Given the description of an element on the screen output the (x, y) to click on. 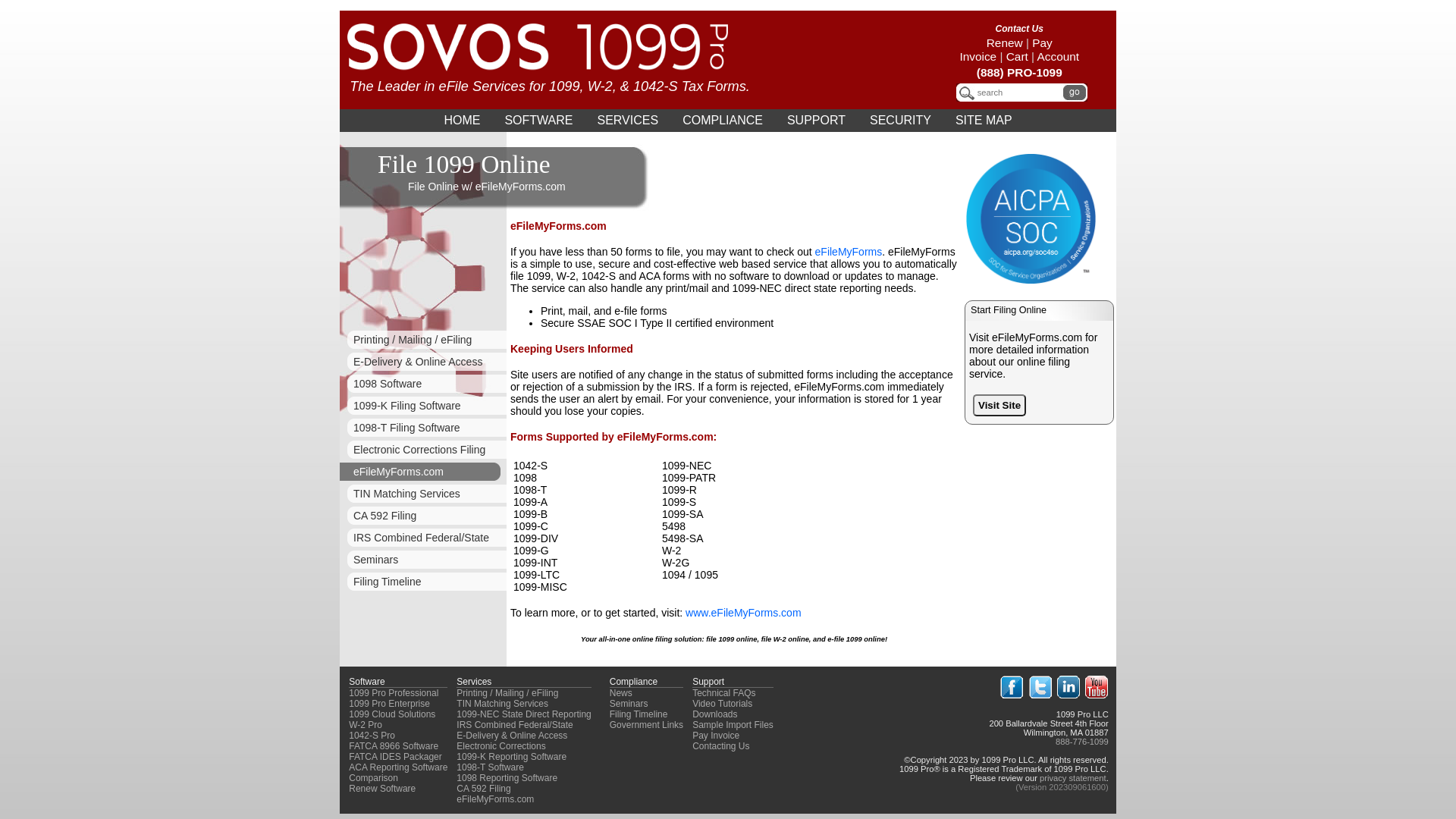
www.eFileMyForms.com Element type: text (742, 612)
Electronic Corrections Element type: text (500, 745)
Filing Timeline Element type: text (422, 581)
ACA Reporting Software Element type: text (397, 767)
Support Element type: text (708, 681)
1099 Pro Enterprise Element type: text (388, 703)
eFileMyForms.com Element type: text (494, 798)
IRS Combined Federal/State Element type: text (422, 537)
SITE MAP Element type: text (983, 120)
CA 592 Filing Element type: text (483, 788)
Printing / Mailing / eFiling Element type: text (507, 692)
Seminars Element type: text (628, 703)
E-Delivery & Online Access Element type: text (422, 361)
HOME Element type: text (461, 120)
1098 Reporting Software Element type: text (506, 777)
Technical FAQs Element type: text (723, 692)
(888) PRO-1099 Element type: text (1019, 71)
Cart Element type: text (1017, 56)
eFileMyForms.com Element type: text (422, 471)
Electronic Corrections Filing Element type: text (422, 449)
Pay Invoice Element type: text (1005, 49)
W-2 Pro Element type: text (365, 724)
Visit Site Element type: text (999, 405)
Video Tutorials Element type: text (722, 703)
Software Element type: text (366, 681)
Renew Element type: text (1004, 42)
eFileMyForms Element type: text (848, 251)
Sample Import Files Element type: text (732, 724)
1099-K Filing Software Element type: text (422, 405)
Seminars Element type: text (422, 559)
888-776-1099 Element type: text (1081, 741)
Filing Timeline Element type: text (638, 714)
Comparison Element type: text (373, 777)
1099 Pro Professional Element type: text (393, 692)
SUPPORT Element type: text (815, 120)
privacy statement Element type: text (1072, 777)
TIN Matching Services Element type: text (502, 703)
SERVICES Element type: text (627, 120)
FATCA IDES Packager Element type: text (395, 756)
FATCA 8966 Software Element type: text (393, 745)
Government Links Element type: text (646, 724)
1099-K Reporting Software Element type: text (511, 756)
1098-T Filing Software Element type: text (422, 427)
Services Element type: text (473, 681)
1098 Software Element type: text (422, 383)
1098-T Software Element type: text (490, 767)
E-Delivery & Online Access Element type: text (511, 735)
TIN Matching Services Element type: text (422, 493)
Pay Invoice Element type: text (715, 735)
1042-S Pro Element type: text (371, 735)
COMPLIANCE Element type: text (722, 120)
Downloads Element type: text (714, 714)
Contacting Us Element type: text (720, 745)
SOFTWARE Element type: text (537, 120)
Printing / Mailing / eFiling Element type: text (422, 339)
News Element type: text (620, 692)
Contact Us Element type: text (1019, 28)
Account Element type: text (1058, 56)
CA 592 Filing Element type: text (422, 515)
1099 Cloud Solutions Element type: text (391, 714)
Compliance Element type: text (633, 681)
IRS Combined Federal/State Element type: text (514, 724)
Renew Software Element type: text (381, 788)
1099-NEC State Direct Reporting Element type: text (523, 714)
SECURITY Element type: text (900, 120)
